Given the description of an element on the screen output the (x, y) to click on. 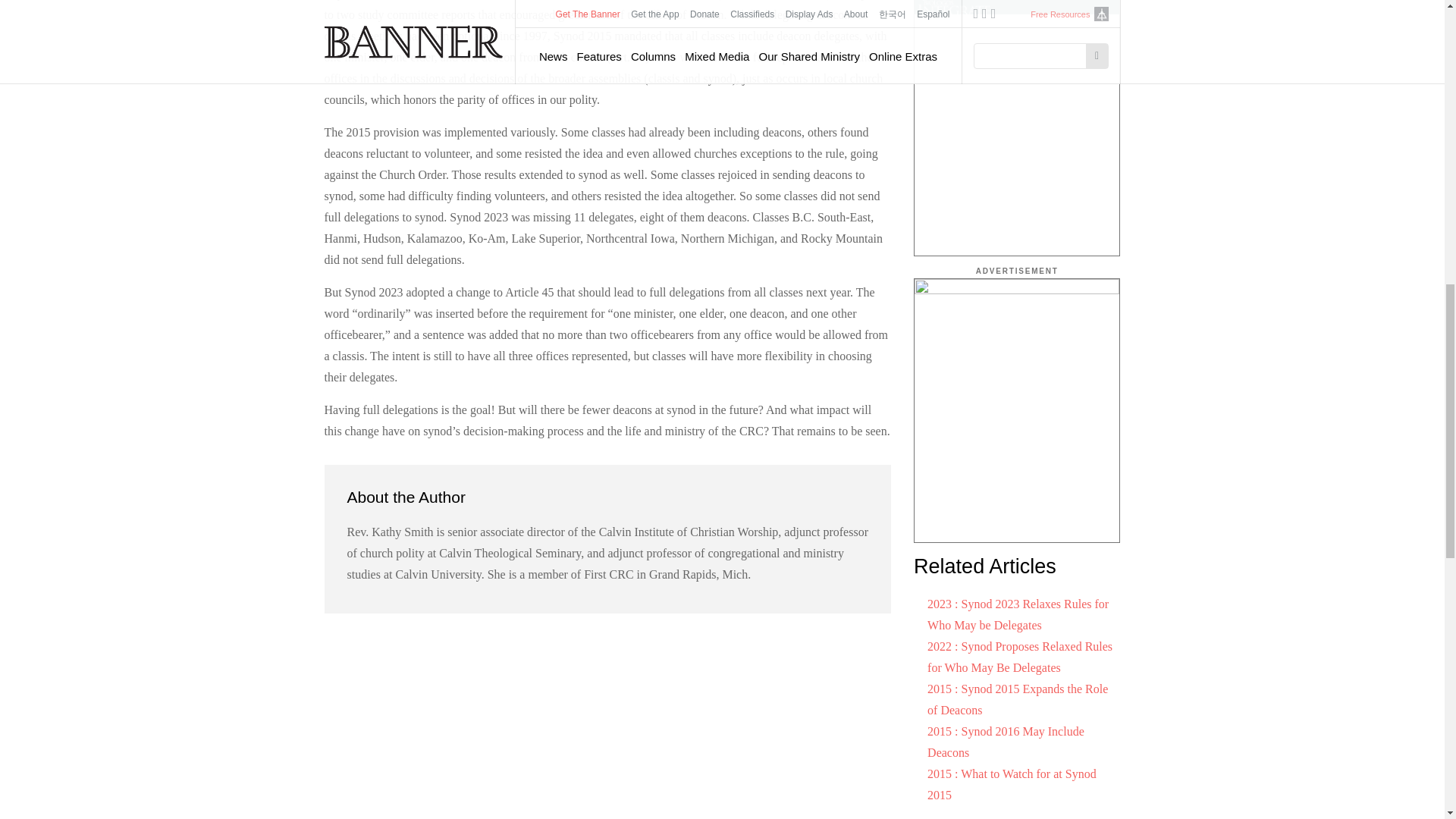
2022 : Synod Proposes Relaxed Rules for Who May Be Delegates (1019, 656)
2015 : What to Watch for at Synod 2015 (1011, 784)
2015 : Synod 2016 May Include Deacons (1005, 741)
2023 : Synod 2023 Relaxes Rules for Who May be Delegates (1017, 614)
2015 : Synod 2015 Expands the Role of Deacons (1017, 699)
